Given the description of an element on the screen output the (x, y) to click on. 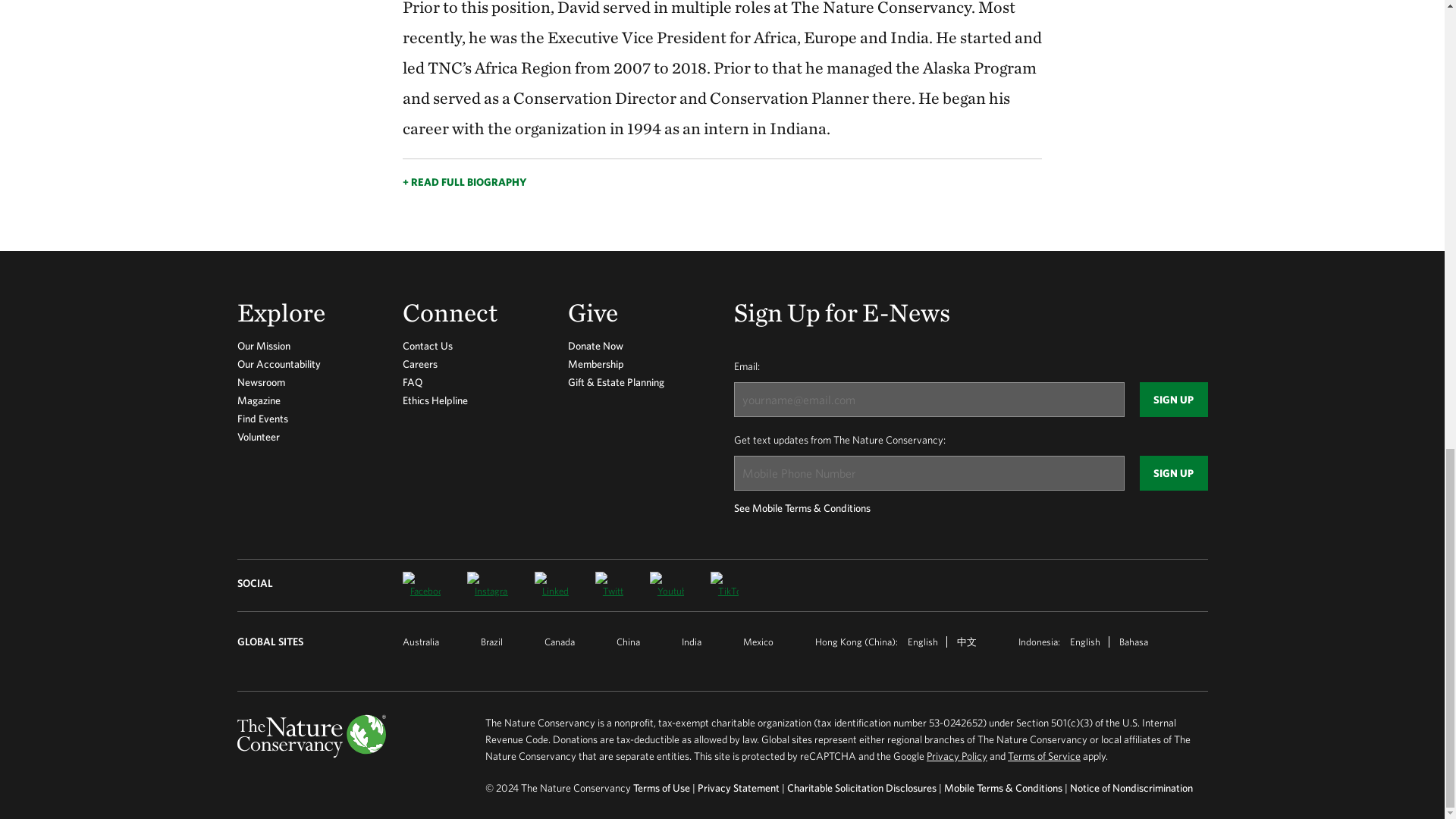
more (722, 174)
